Given the description of an element on the screen output the (x, y) to click on. 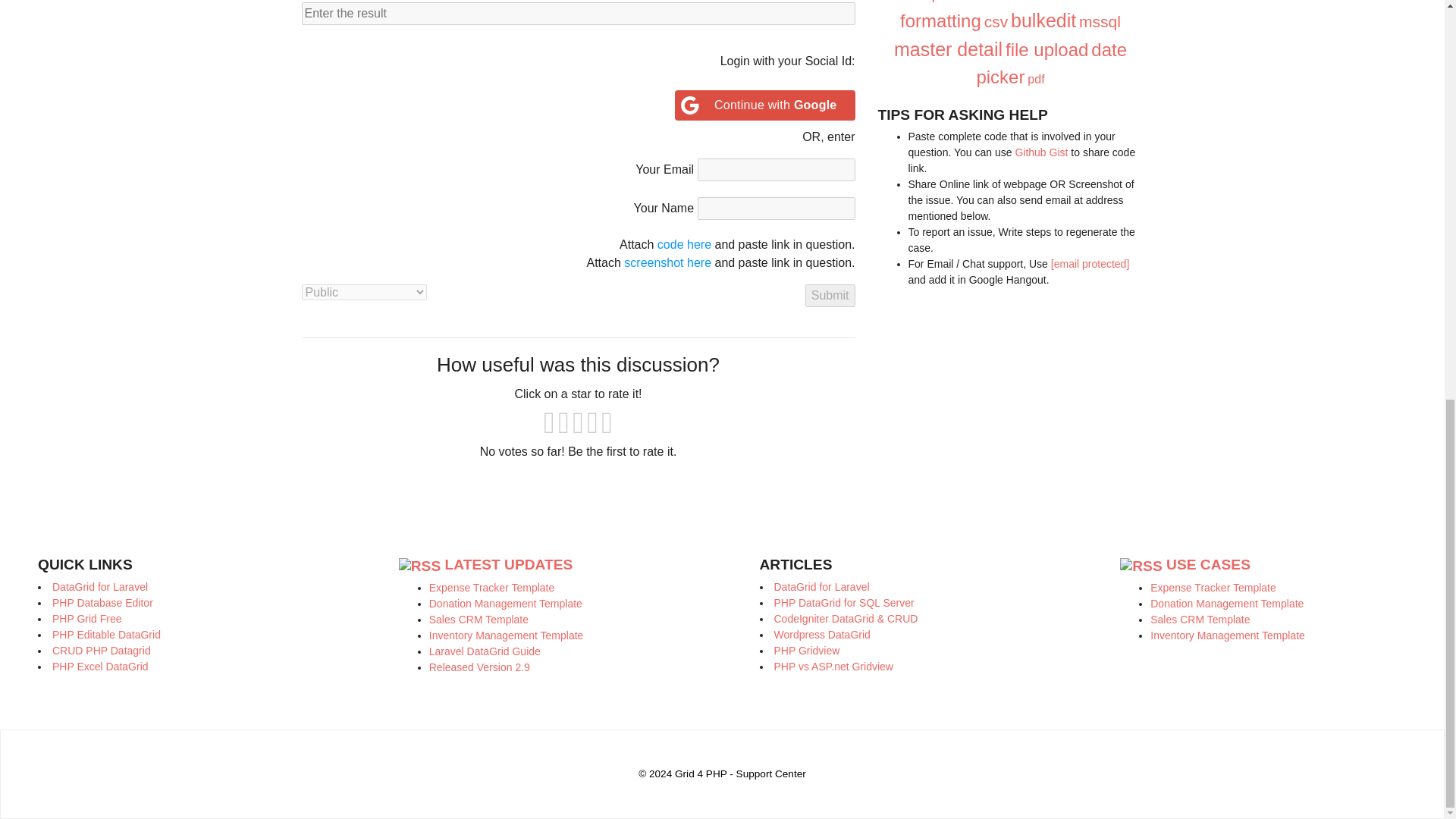
Submit (830, 295)
screenshot here (667, 262)
Continue with Google (765, 105)
Submit (830, 295)
code here (684, 244)
